Given the description of an element on the screen output the (x, y) to click on. 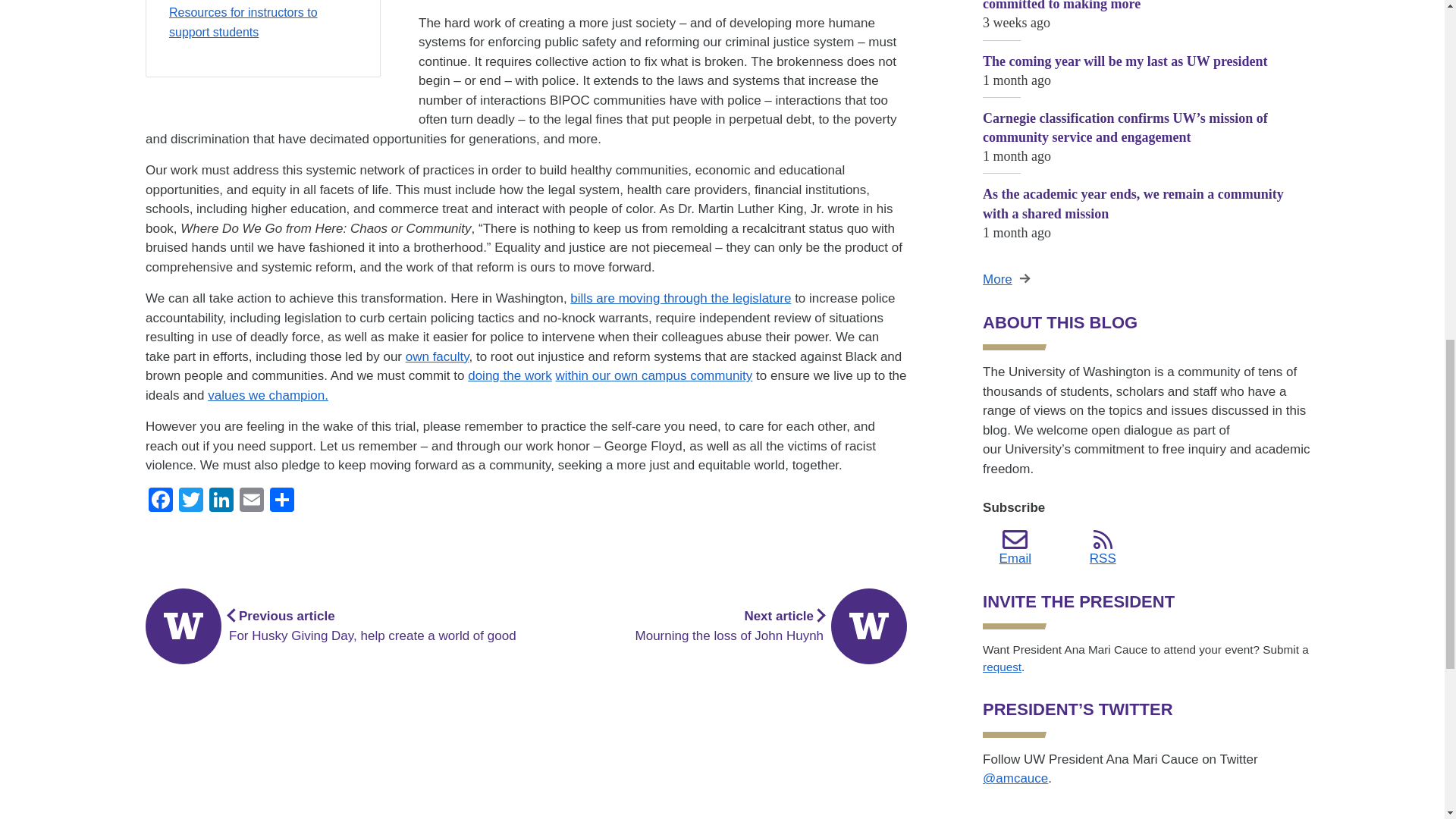
The coming year will be my last as UW president (1146, 78)
Email (250, 501)
LinkedIn (220, 501)
Twitter (191, 501)
Facebook (160, 501)
